Given the description of an element on the screen output the (x, y) to click on. 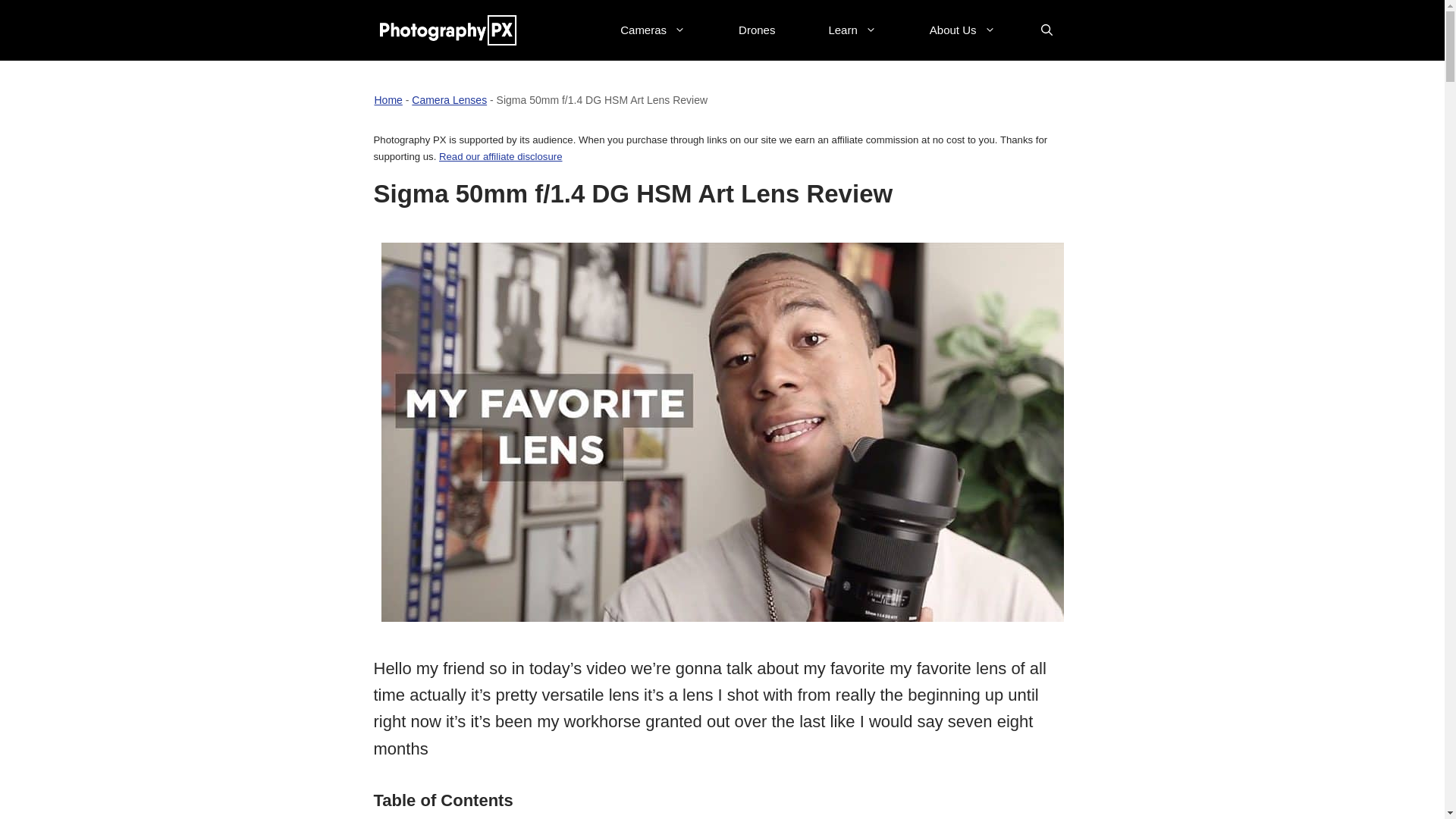
Learn (852, 30)
About Us (962, 30)
Cameras (652, 30)
Photography PX (448, 30)
Drones (756, 30)
